Given the description of an element on the screen output the (x, y) to click on. 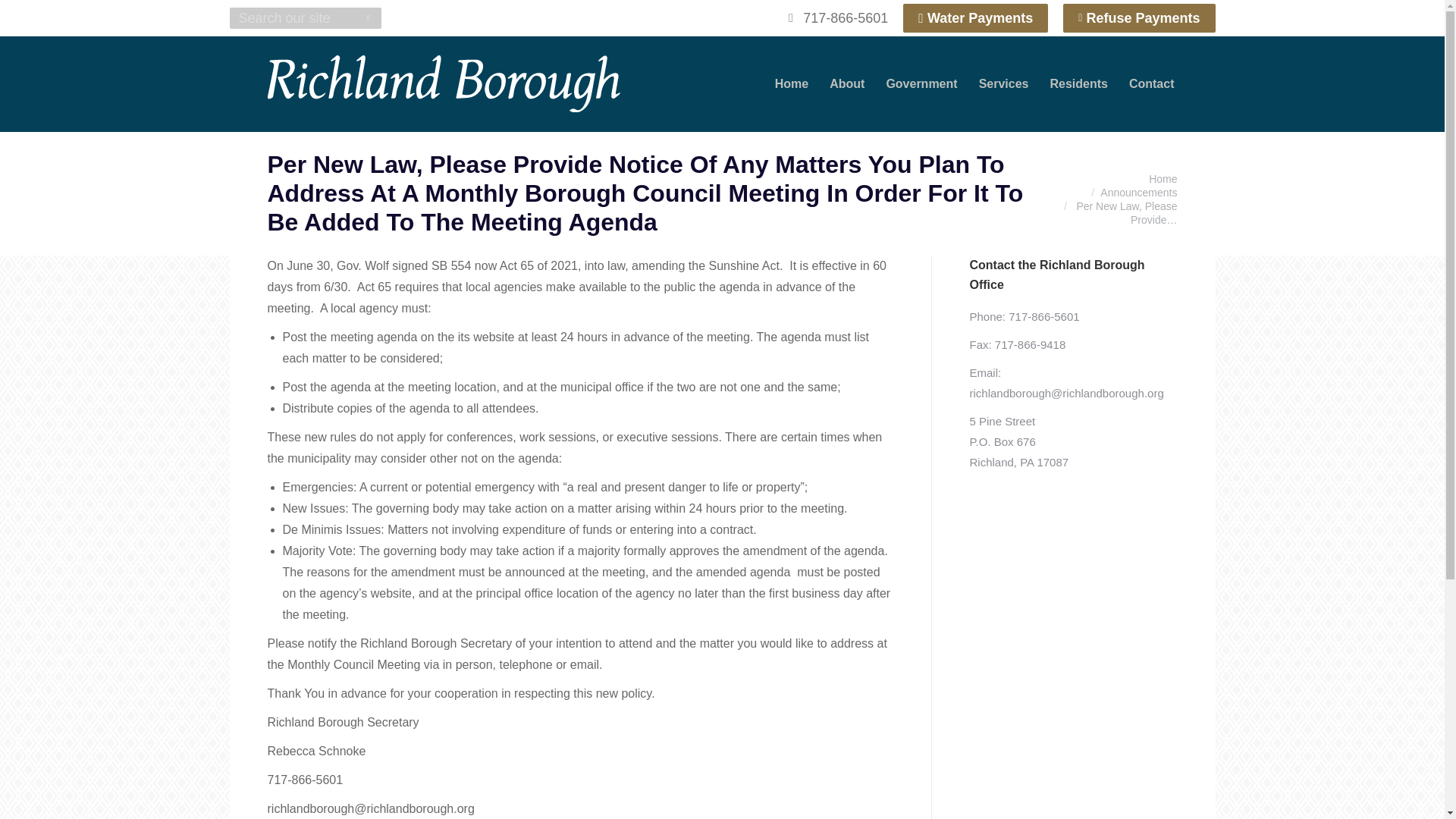
717-866-5601 (835, 18)
Refuse Payments (1138, 18)
Home (1162, 178)
Government (920, 83)
Water Payments (975, 18)
Residents (1077, 83)
Go! (24, 16)
Announcements (1138, 192)
Search form (304, 17)
